Given the description of an element on the screen output the (x, y) to click on. 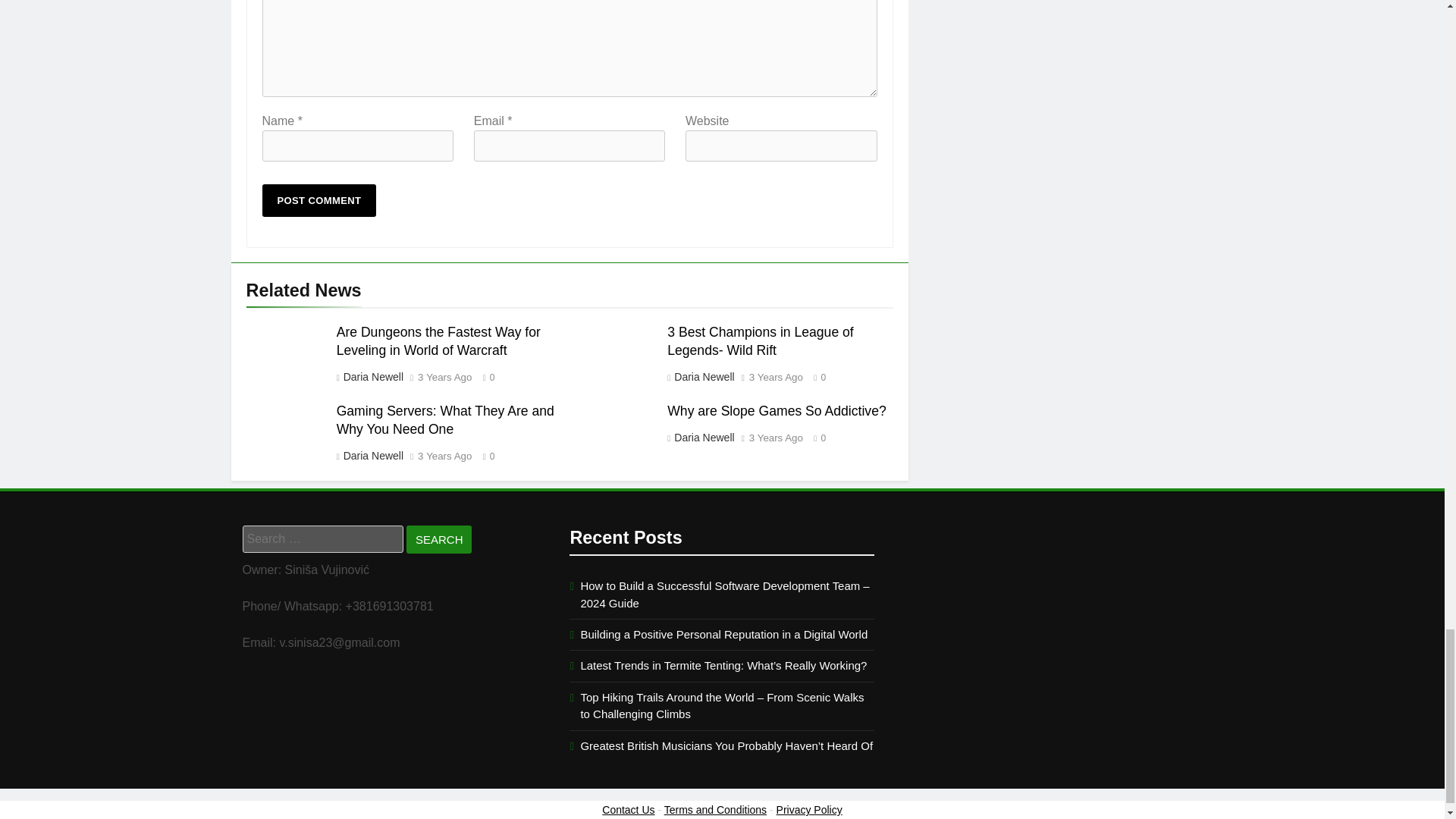
Search (438, 539)
Post Comment (319, 200)
Search (438, 539)
